Given the description of an element on the screen output the (x, y) to click on. 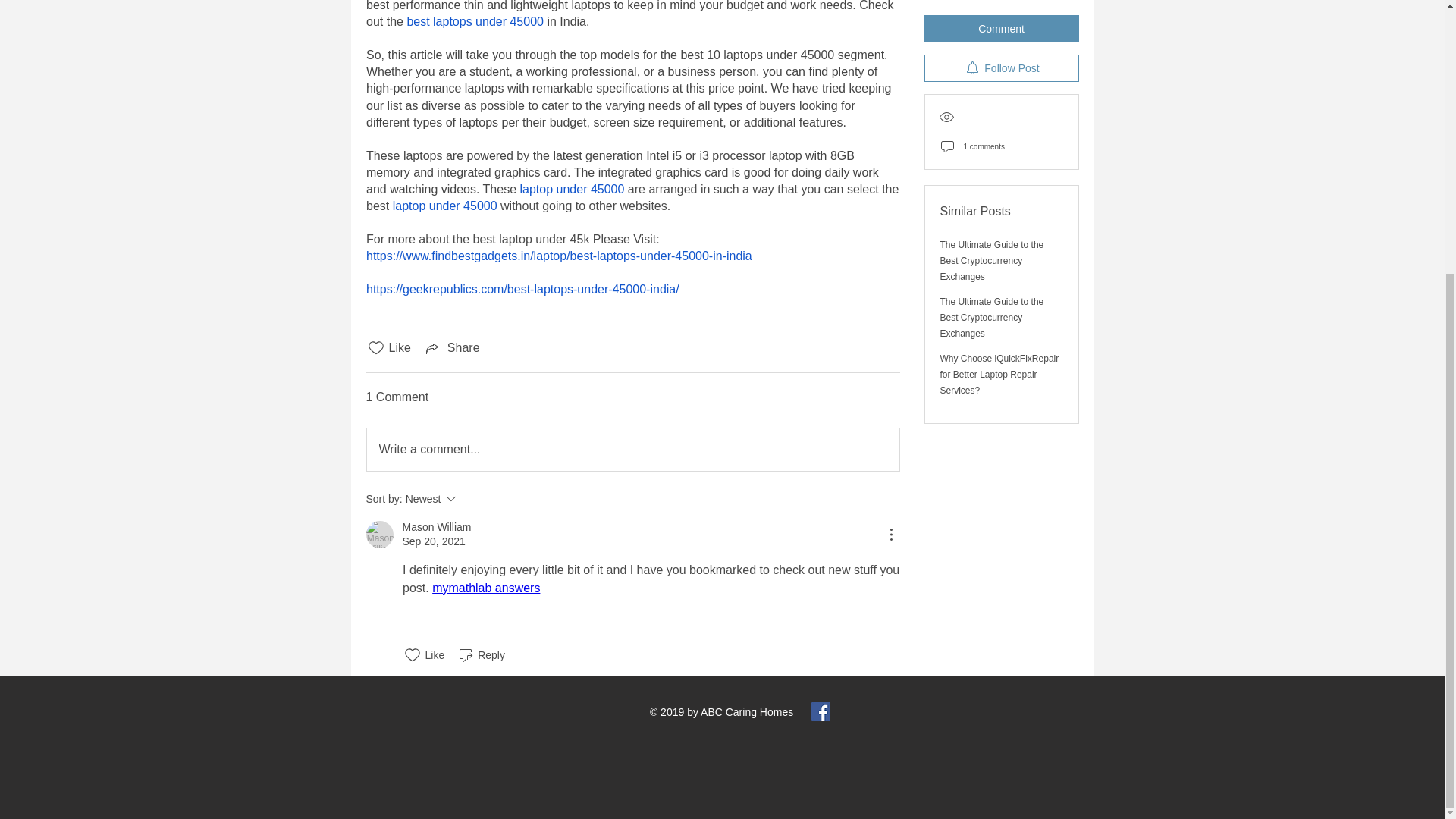
Write a comment... (632, 449)
Mason William (471, 498)
mymathlab answers (435, 527)
Share (486, 587)
laptop under 45000 (451, 348)
Mason William (571, 188)
laptop under 45000 (379, 533)
best laptops under 45000 (443, 205)
